Given the description of an element on the screen output the (x, y) to click on. 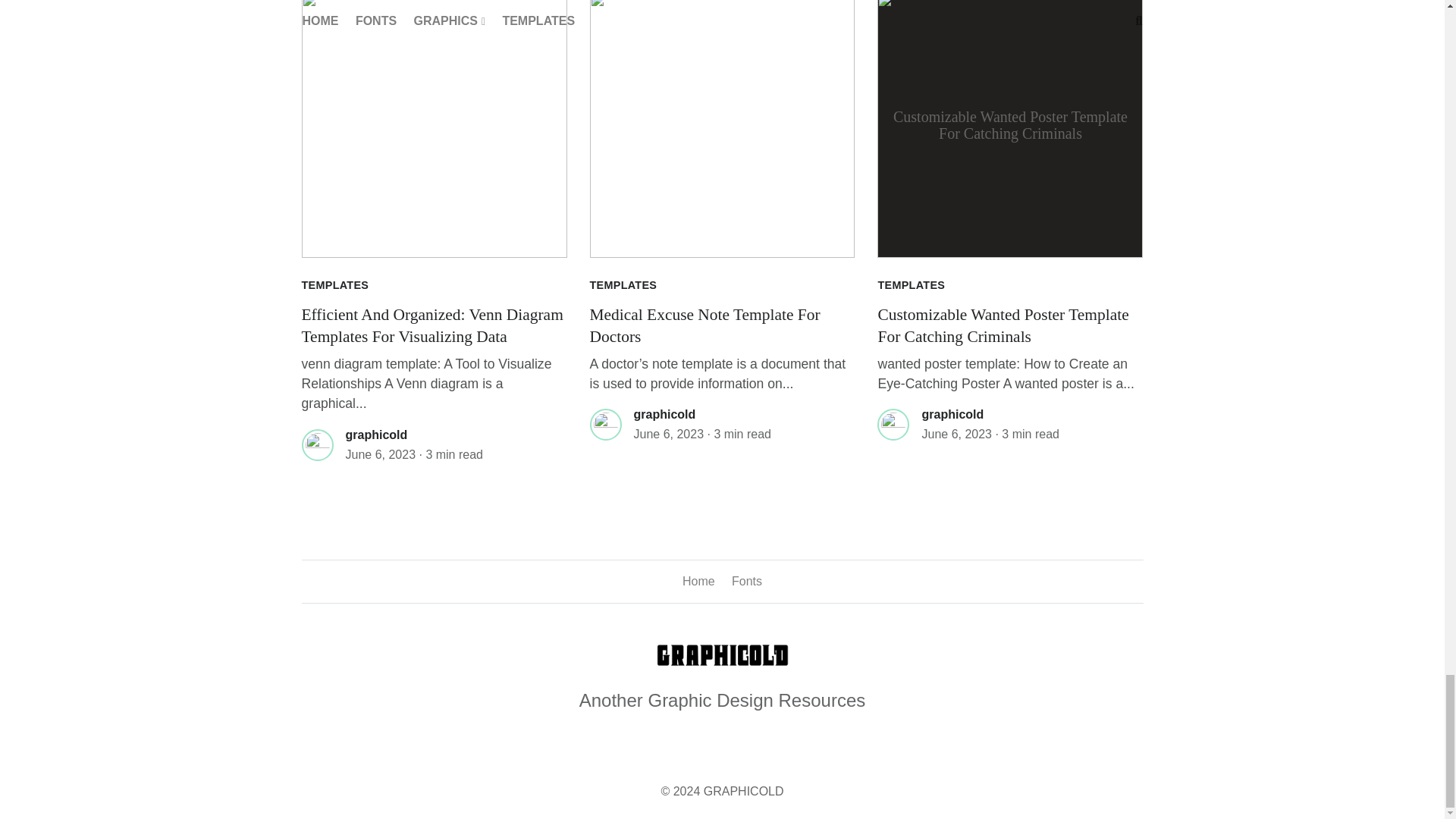
Posts by graphicold (376, 434)
Posts by graphicold (952, 413)
Posts by graphicold (664, 413)
